Given the description of an element on the screen output the (x, y) to click on. 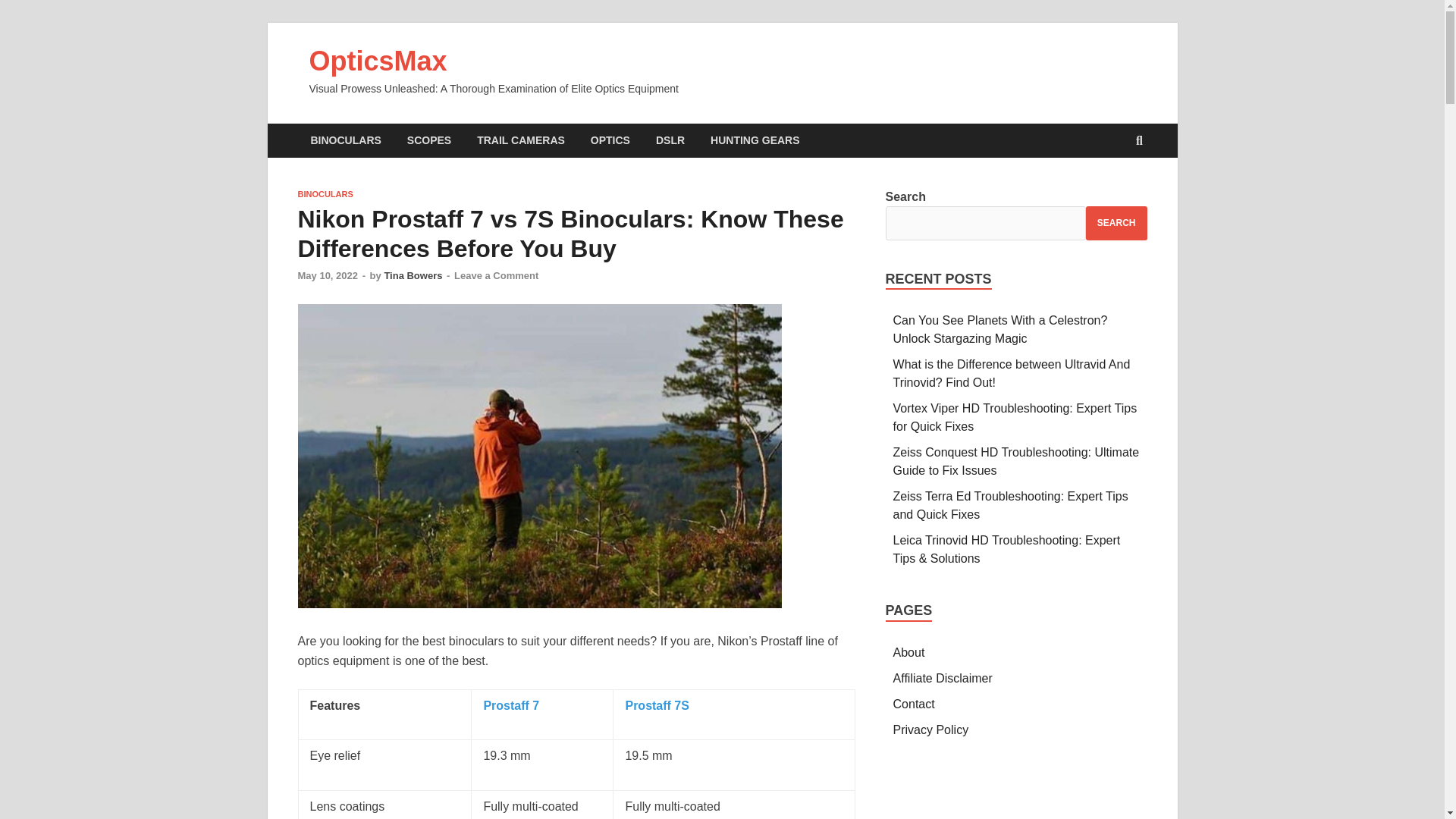
BINOCULARS (324, 194)
Prostaff 7S (656, 705)
OPTICS (610, 140)
HUNTING GEARS (754, 140)
May 10, 2022 (327, 275)
TRAIL CAMERAS (521, 140)
BINOCULARS (345, 140)
Tina Bowers (413, 275)
DSLR (670, 140)
OpticsMax (377, 60)
